Given the description of an element on the screen output the (x, y) to click on. 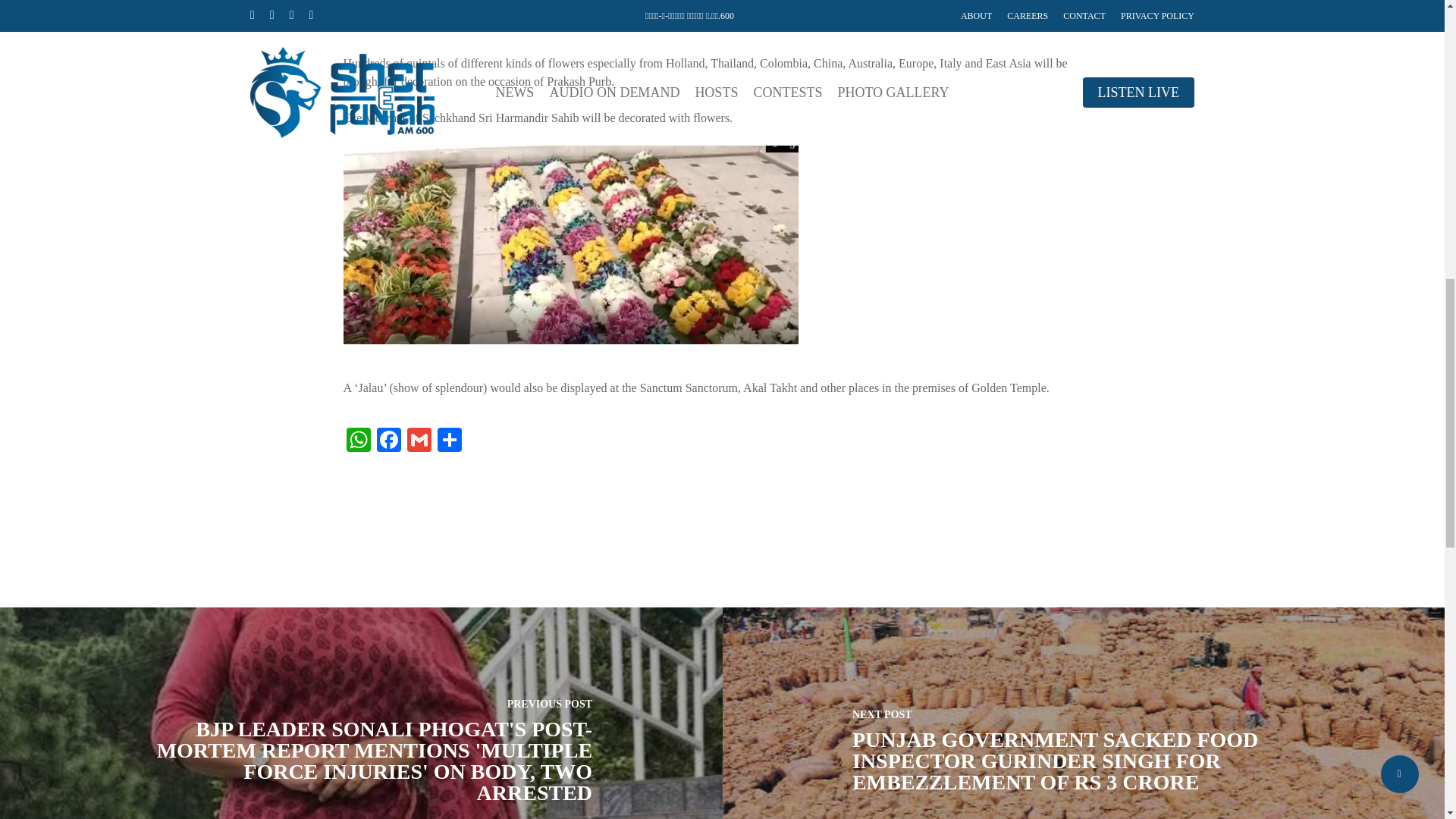
Facebook (387, 441)
Gmail (418, 441)
Gmail (418, 441)
WhatsApp (357, 441)
Facebook (387, 441)
WhatsApp (357, 441)
